Given the description of an element on the screen output the (x, y) to click on. 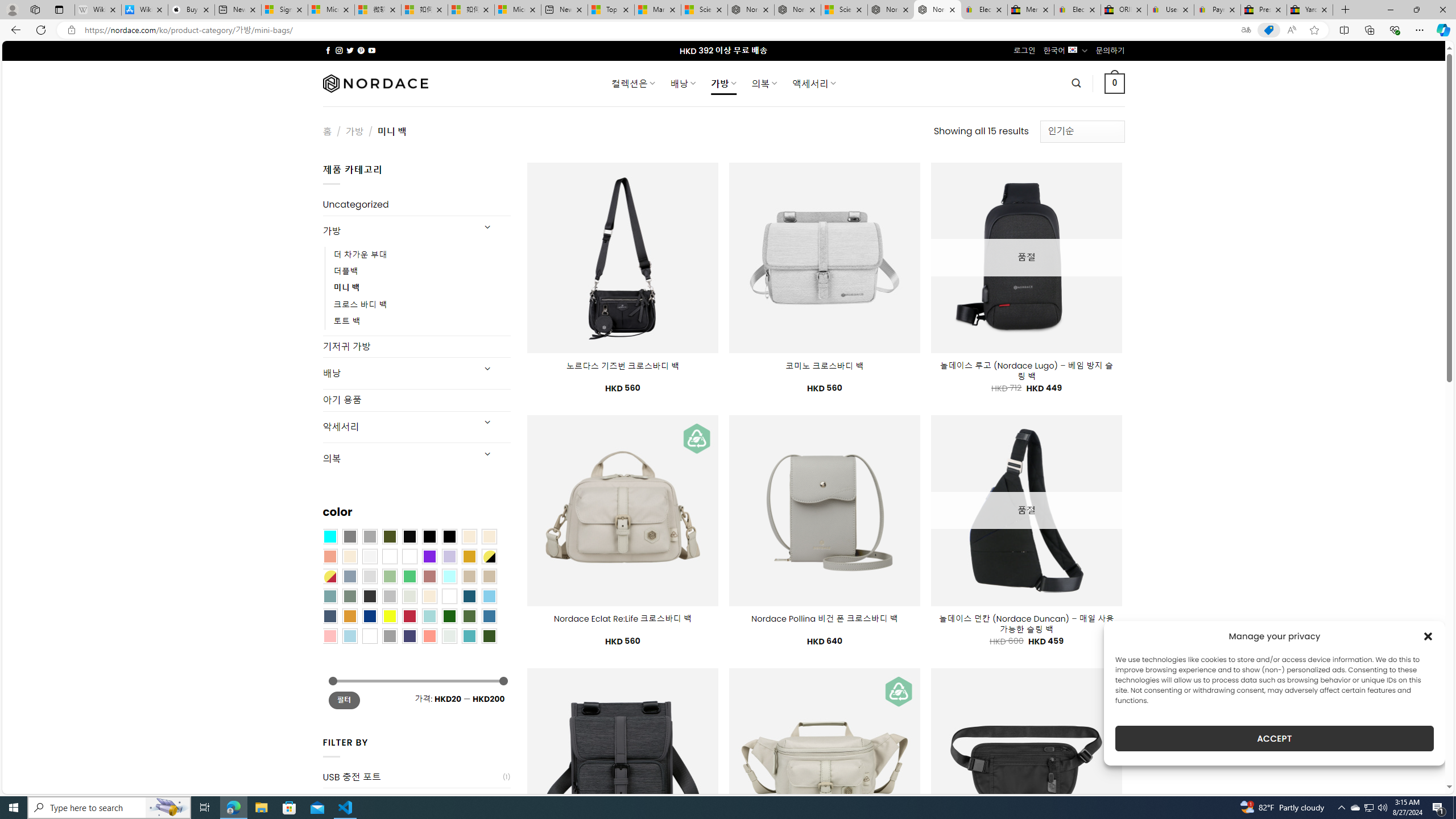
Follow on Facebook (327, 50)
Yard, Garden & Outdoor Living (1309, 9)
